Given the description of an element on the screen output the (x, y) to click on. 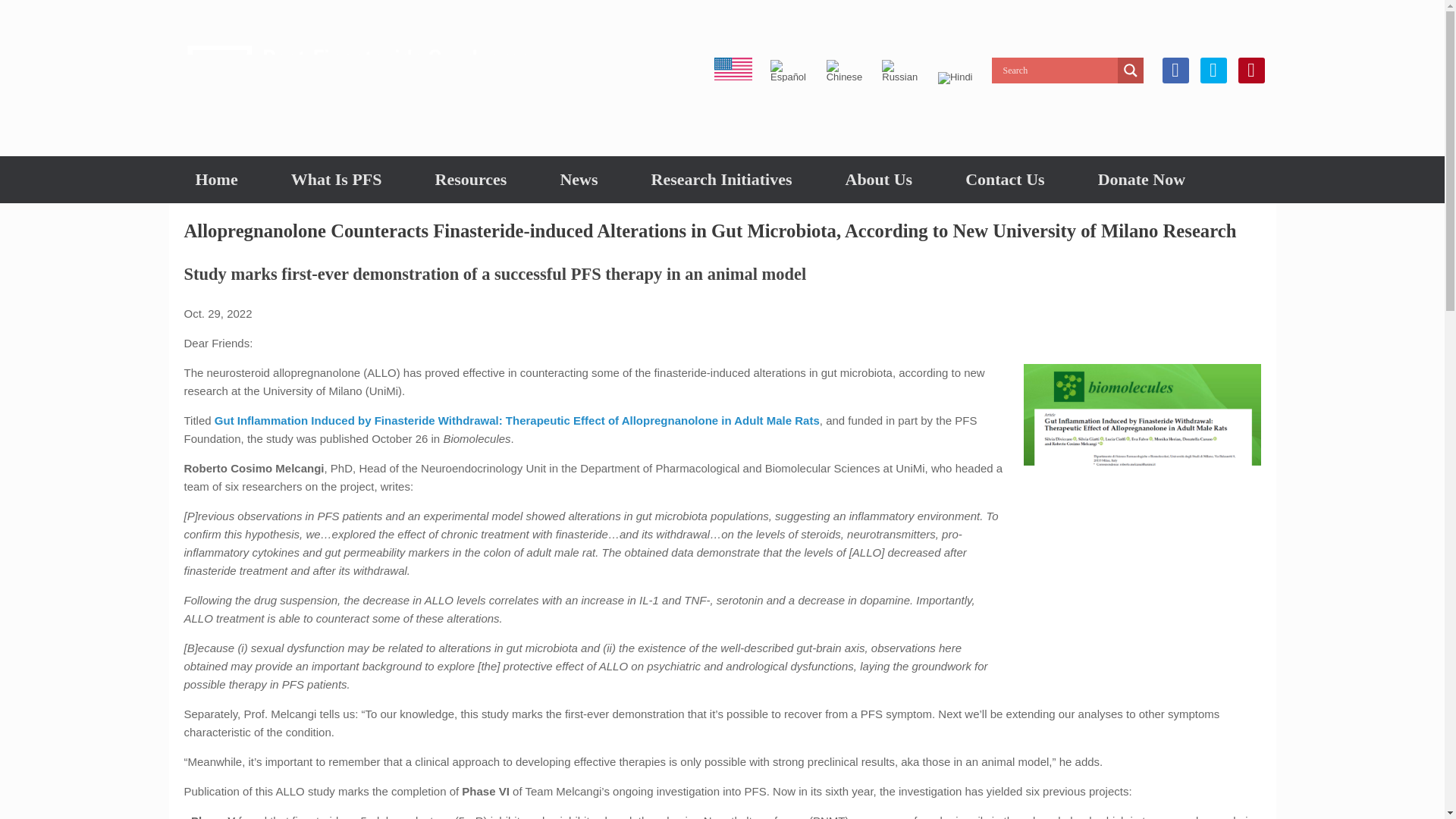
Research Initiatives (721, 179)
Donate Now (1141, 179)
News (578, 179)
Resources (469, 179)
Home (215, 179)
The Post-Finasteride Syndrome Foundation (357, 78)
What Is PFS (336, 179)
Contact Us (1005, 179)
About Us (878, 179)
